Given the description of an element on the screen output the (x, y) to click on. 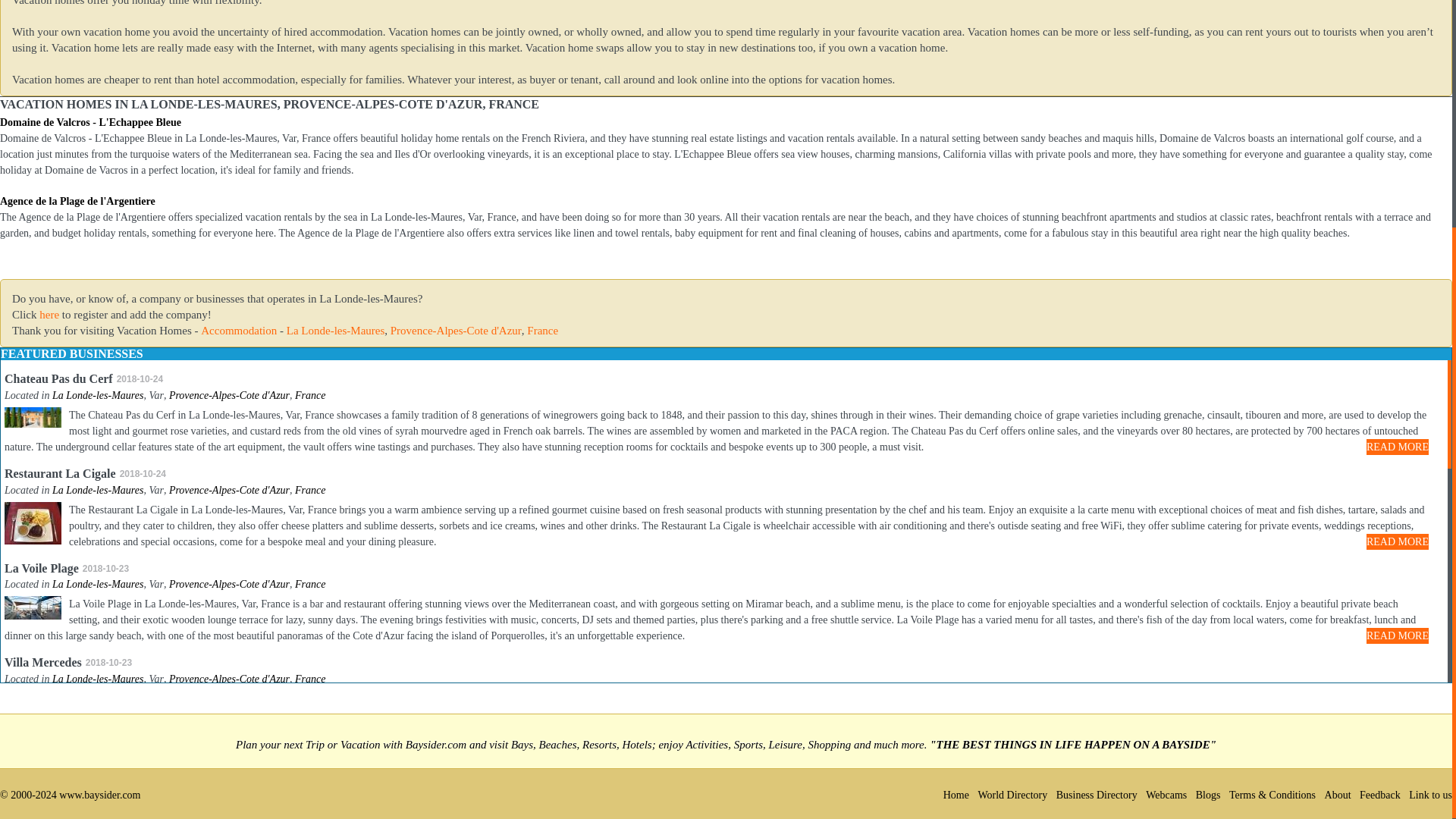
Restaurant La Cigale (60, 472)
Chateau Pas du Cerf (58, 378)
Chateau Pas du Cerf (58, 378)
La Londe-les-Maures (97, 583)
La Voile Plage (41, 567)
Domaine de Valcros - L'Echappee Bleue (90, 122)
Provence-Alpes-Cote d'Azur (228, 395)
La Londe-les-Maures (97, 490)
READ MORE (1397, 446)
Register (49, 314)
La Londe-les-Maures (335, 330)
Provence-Alpes-Cote d'Azur (455, 330)
Businesses and services in La Londe-les-Maures (97, 395)
here (49, 314)
